Given the description of an element on the screen output the (x, y) to click on. 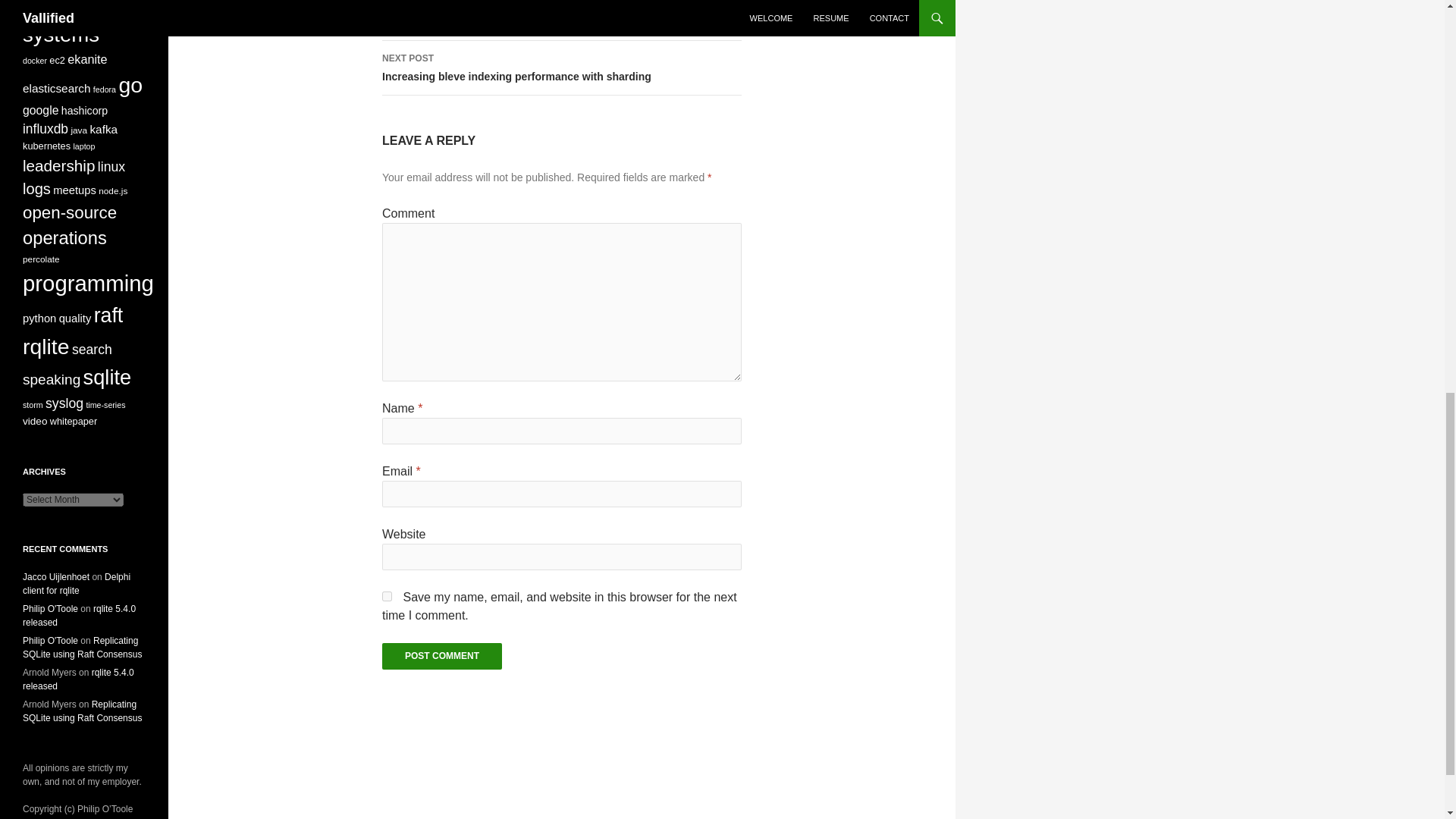
Post Comment (441, 655)
Post Comment (441, 655)
yes (561, 20)
